Given the description of an element on the screen output the (x, y) to click on. 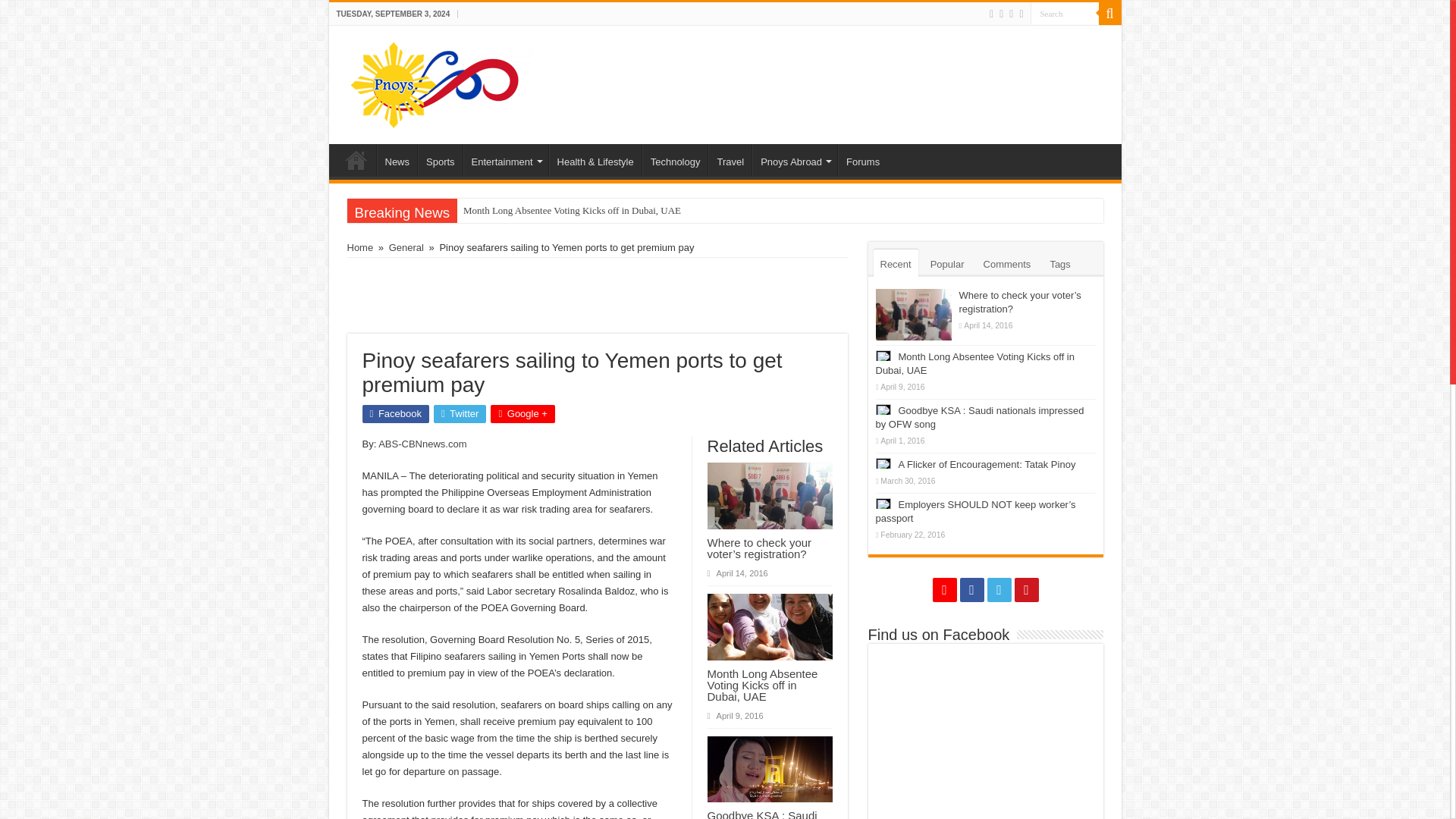
Technology (674, 160)
Search (1109, 13)
News (395, 160)
Advertisement (833, 74)
Home (355, 160)
Pnoys.com (443, 81)
Search (1063, 13)
Search (1063, 13)
Entertainment (505, 160)
Advertisement (597, 295)
